Given the description of an element on the screen output the (x, y) to click on. 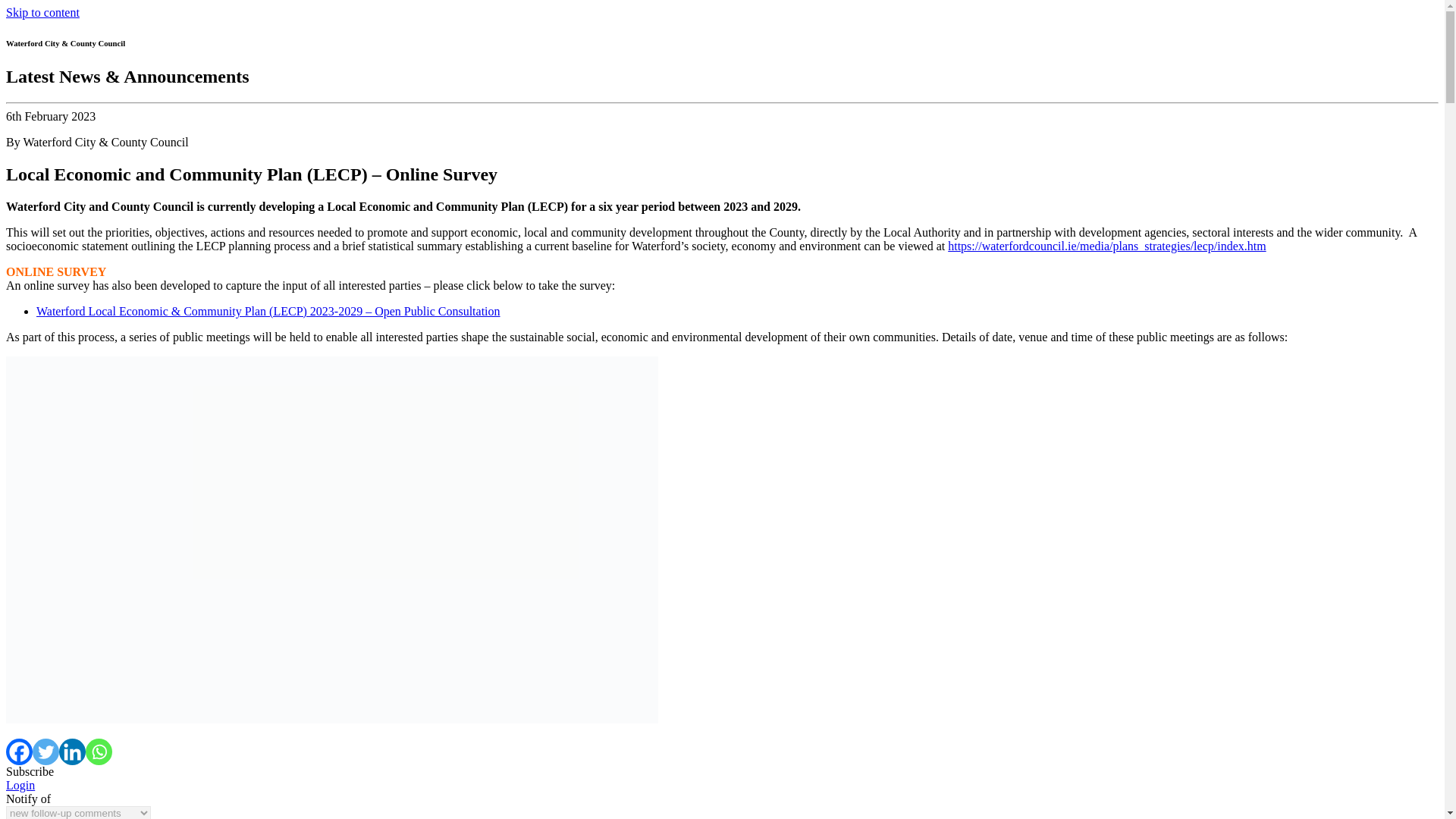
Facebook (18, 751)
Linkedin (72, 751)
Skip to content (42, 11)
Whatsapp (98, 751)
Twitter (45, 751)
Login (19, 784)
